Given the description of an element on the screen output the (x, y) to click on. 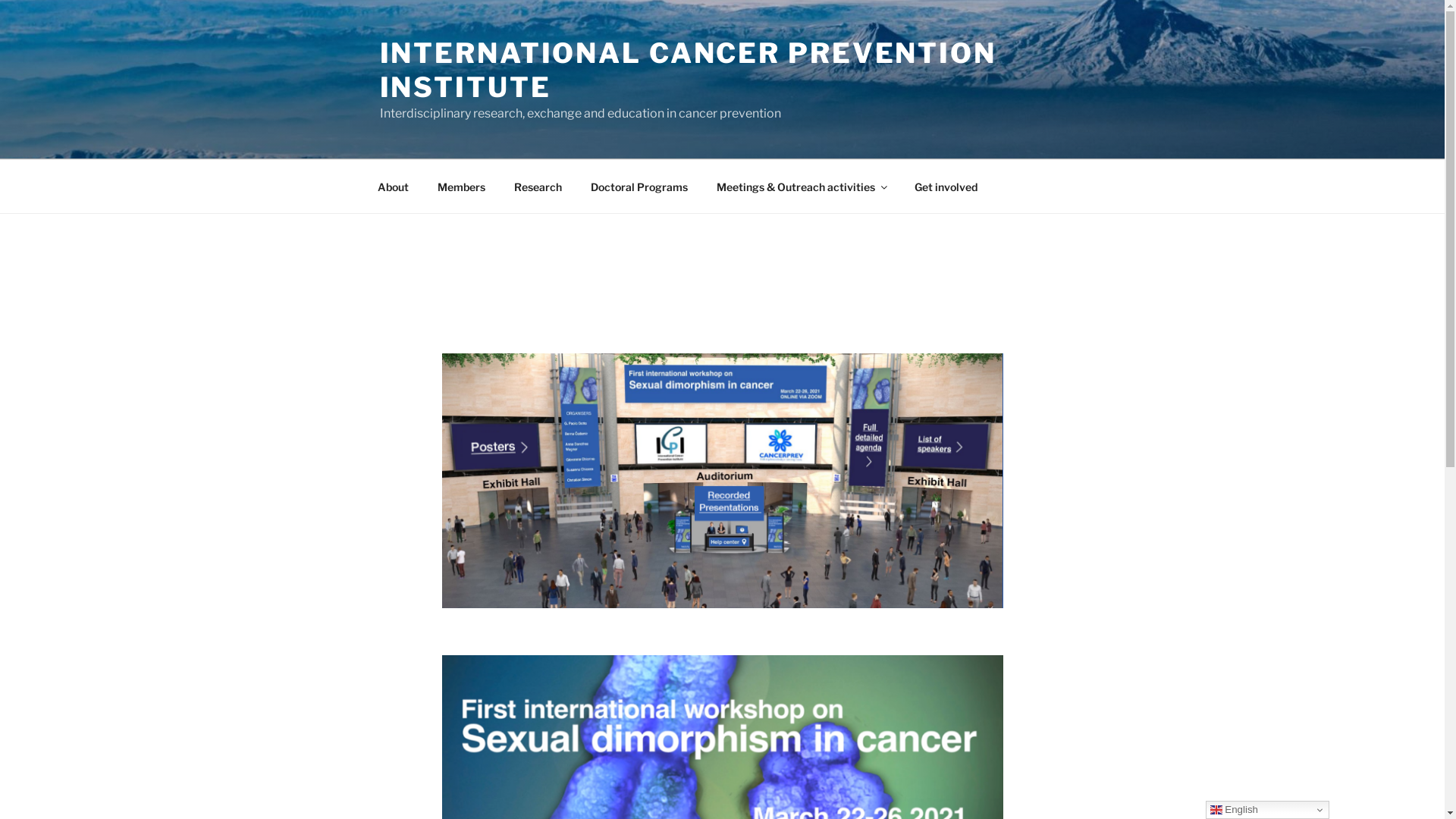
Get involved Element type: text (945, 186)
Meetings & Outreach activities Element type: text (801, 186)
Doctoral Programs Element type: text (639, 186)
About Element type: text (392, 186)
INTERNATIONAL CANCER PREVENTION INSTITUTE Element type: text (687, 69)
Research Element type: text (537, 186)
Members Element type: text (461, 186)
